Given the description of an element on the screen output the (x, y) to click on. 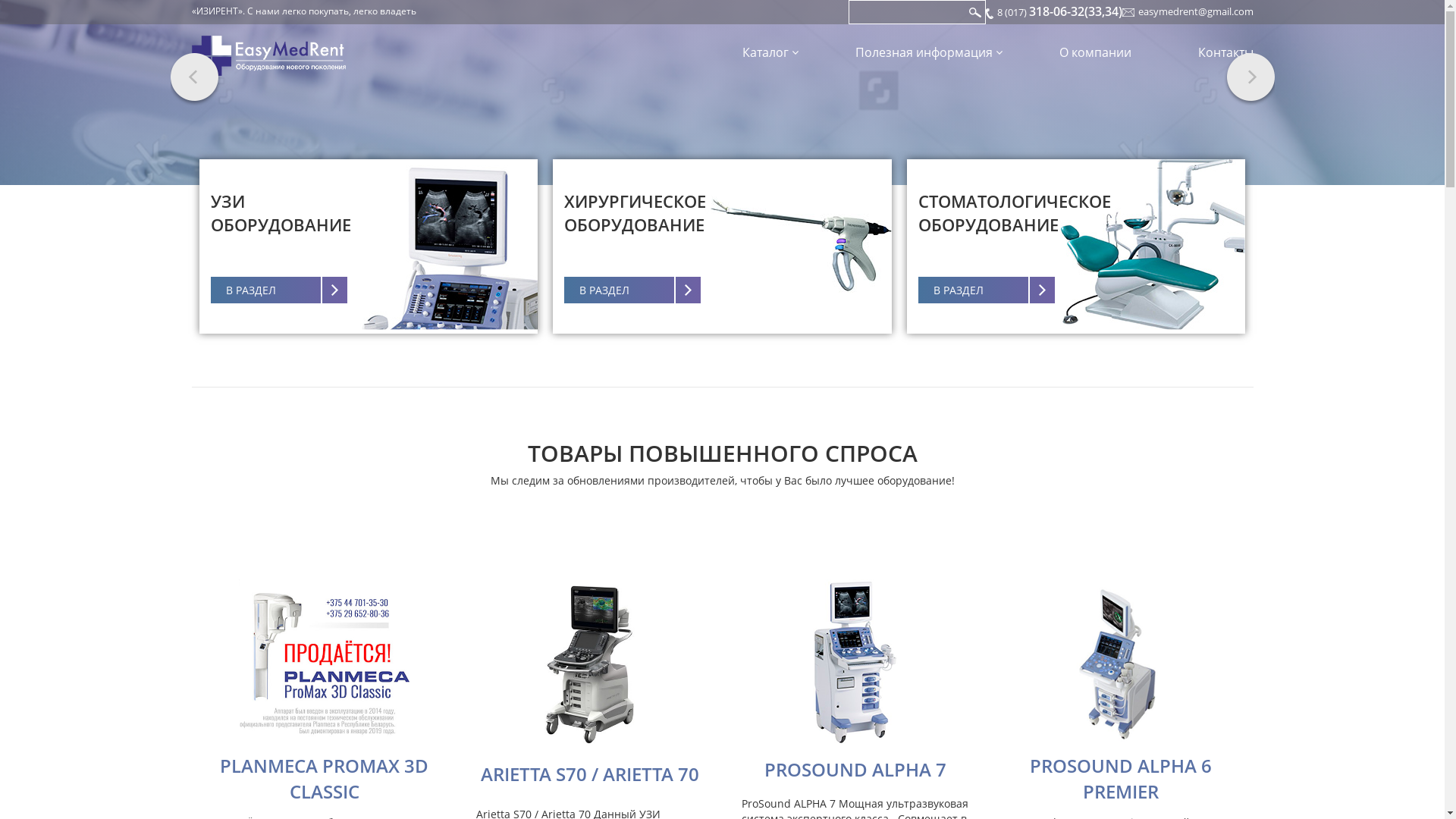
easymedrent@gmail.com Element type: text (1194, 11)
PROSOUND ALPHA 7 Element type: text (855, 768)
PROSOUND ALPHA 6 PREMIER Element type: text (1120, 778)
PLANMECA PROMAX 3D CLASSIC Element type: text (323, 778)
ARIETTA S70 / ARIETTA 70 Element type: text (589, 773)
